Given the description of an element on the screen output the (x, y) to click on. 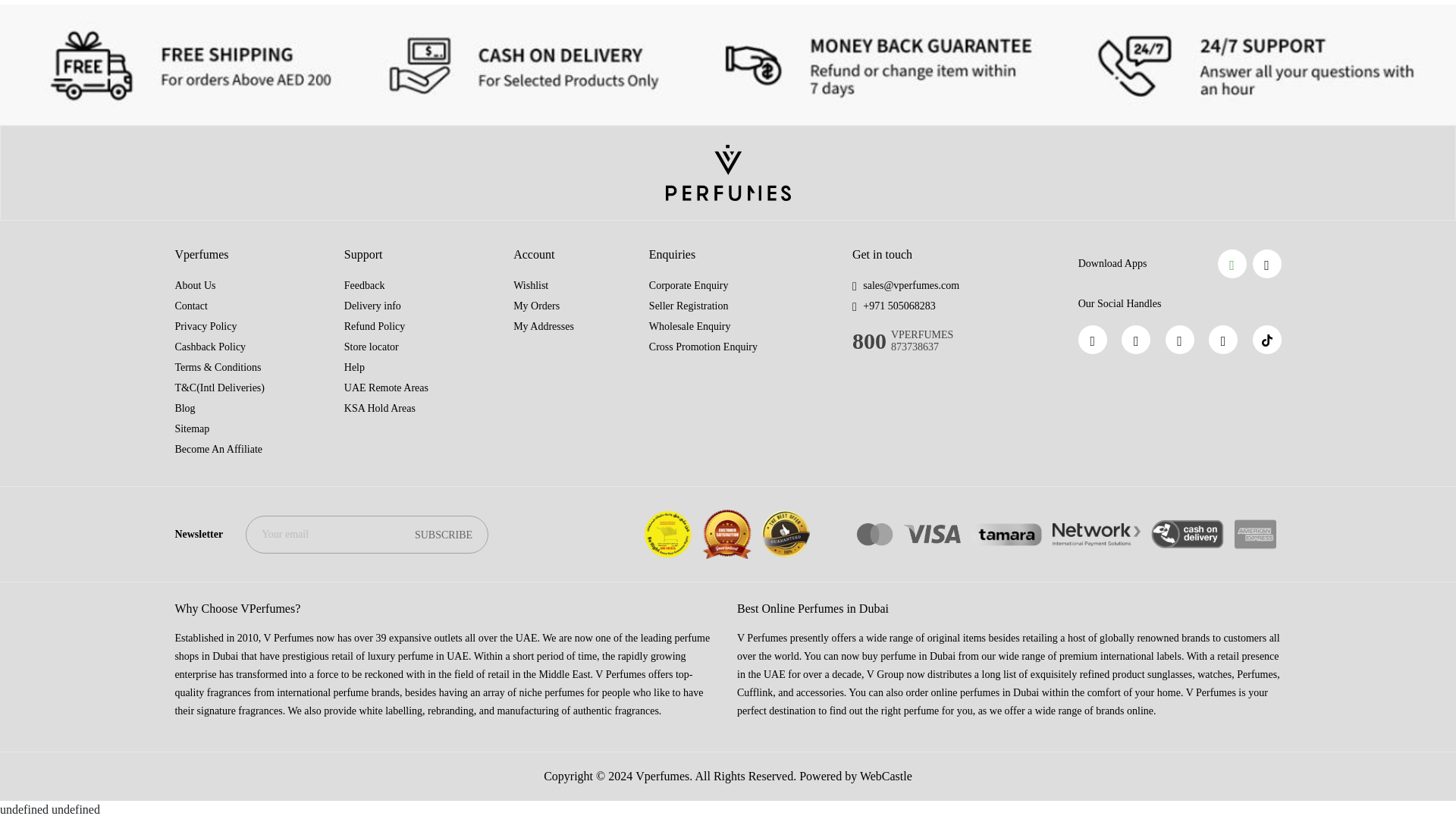
Contact (191, 306)
Folow us on Whatsapp (1135, 339)
Folow us on Tiktok (1266, 339)
Folow us on Instagram (1179, 339)
Privacy Policy (204, 326)
About Us (194, 285)
Folow us on Facebook (1092, 339)
Folow us on Twitter (1222, 339)
